Given the description of an element on the screen output the (x, y) to click on. 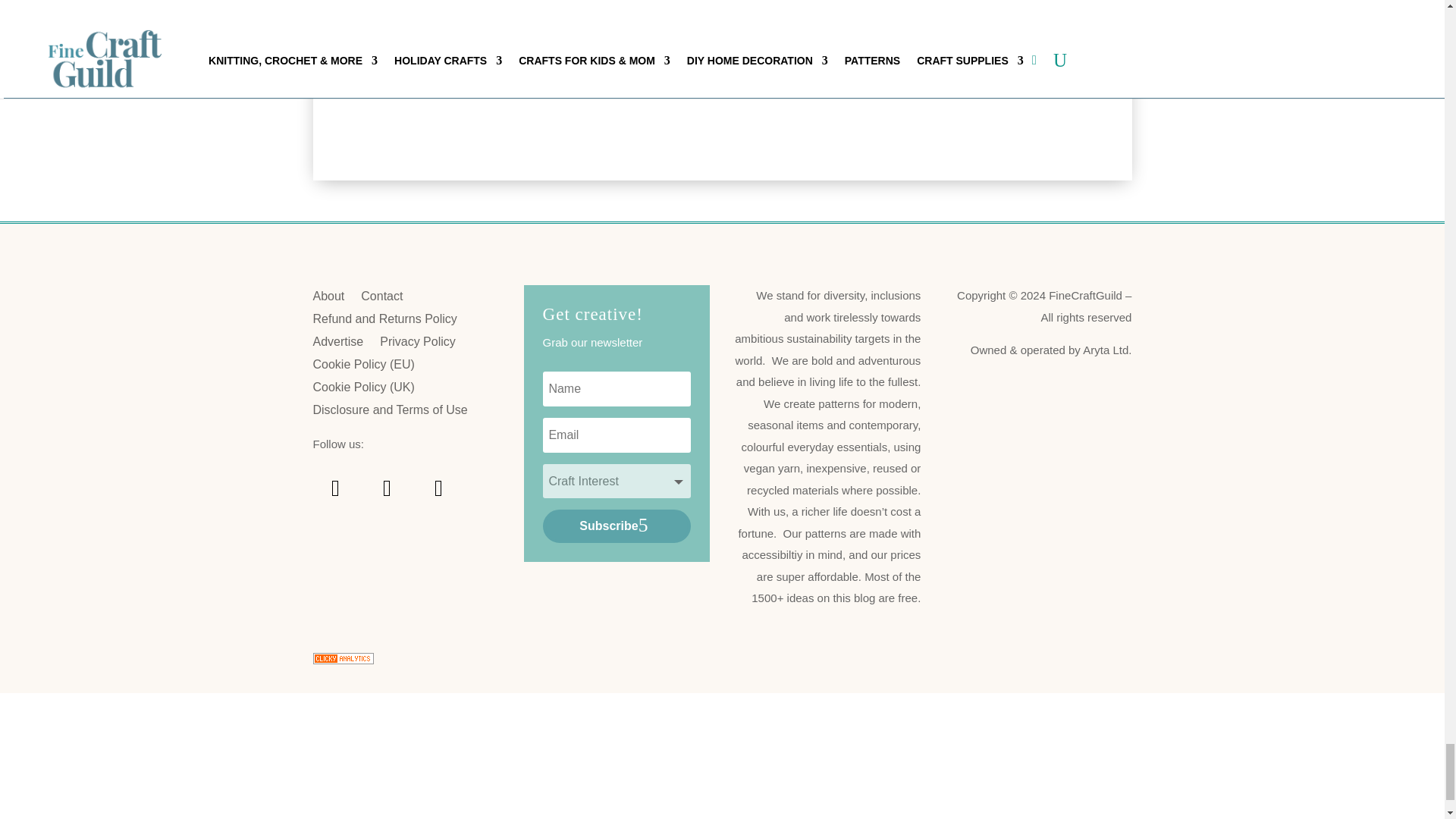
Follow on Facebook (386, 488)
Real Time Web Analytics (342, 659)
Follow on X (437, 488)
Follow on Pinterest (335, 488)
